Given the description of an element on the screen output the (x, y) to click on. 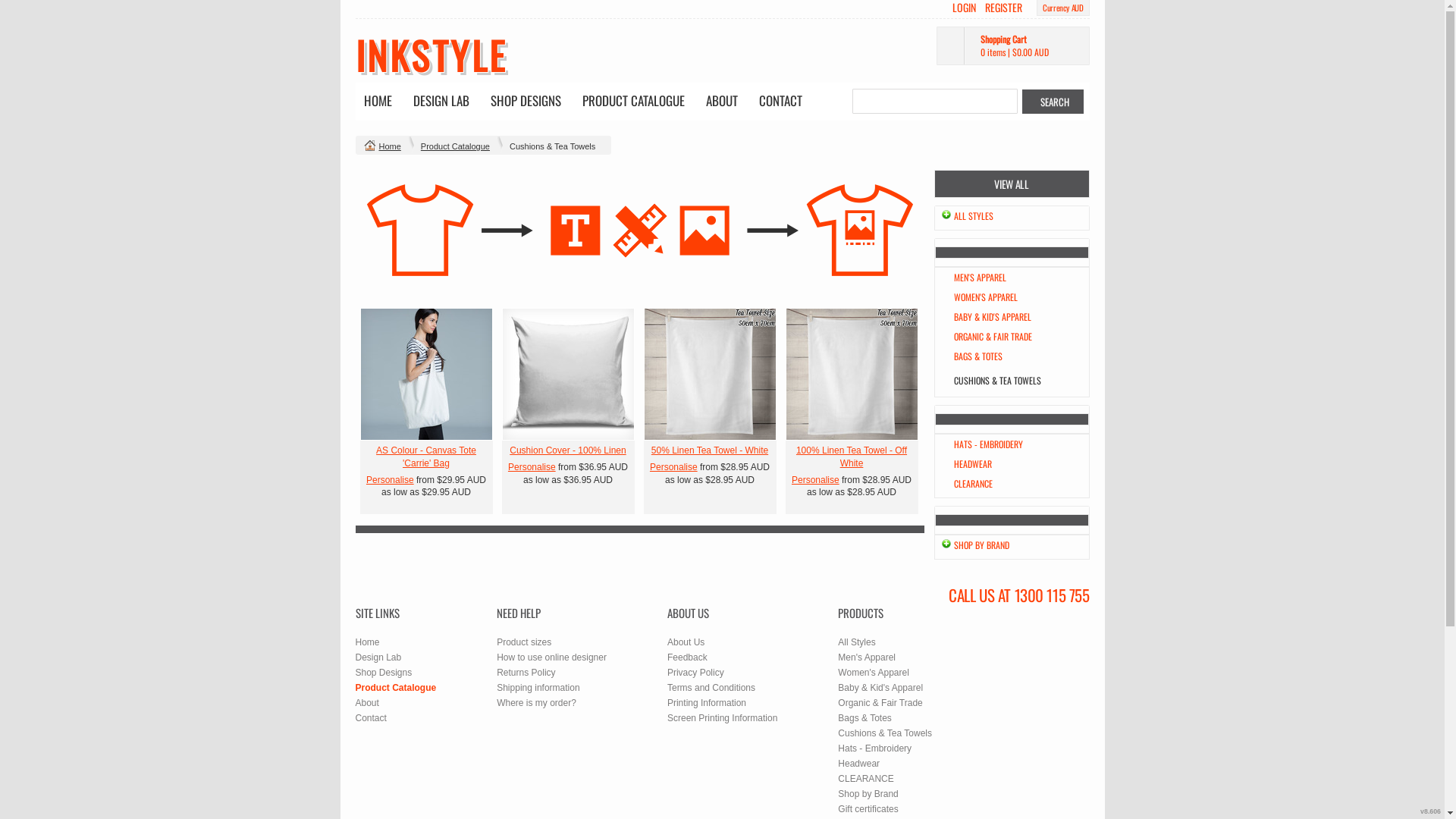
search Element type: text (1052, 101)
Personalise Element type: text (390, 479)
100% Linen Tea Towel - Off White Element type: text (851, 456)
Women's Apparel Element type: text (872, 672)
Cushions & Tea Towels Element type: text (884, 733)
CLEARANCE Element type: text (865, 778)
ABOUT Element type: text (721, 101)
Cushion Cover - 100% Linen Element type: text (567, 450)
PRODUCT CATALOGUE Element type: text (632, 101)
About Us Element type: text (685, 642)
INKSTYLE Element type: text (430, 54)
Home Element type: text (366, 642)
Personalise Element type: text (673, 466)
Men's Apparel Element type: text (866, 657)
Shop Designs Element type: text (382, 672)
WOMEN'S APPAREL Element type: text (985, 296)
LOGIN Element type: text (963, 7)
ALL STYLES Element type: text (973, 215)
Personalise Element type: text (531, 466)
Feedback Element type: text (687, 657)
  Element type: text (709, 373)
HEADWEAR Element type: text (972, 463)
Terms and Conditions Element type: text (711, 687)
Personalise Element type: text (815, 479)
Screen Printing Information Element type: text (722, 717)
Where is my order? Element type: text (536, 702)
AS Colour - Canvas Tote 'Carrie' Bag Element type: text (426, 456)
Shop by Brand Element type: text (867, 793)
Currency AUD Element type: text (1062, 7)
  Element type: text (568, 373)
Headwear Element type: text (858, 763)
Product sizes Element type: text (523, 642)
Home Element type: text (390, 145)
DESIGN LAB Element type: text (441, 101)
Shopping Cart
0 items | $0.00 AUD Element type: text (1011, 45)
Product Catalogue Element type: text (454, 145)
REGISTER Element type: text (1003, 7)
CONTACT Element type: text (780, 101)
Organic & Fair Trade Element type: text (879, 702)
Hats - Embroidery Element type: text (874, 748)
Baby & Kid's Apparel Element type: text (879, 687)
Printing Information Element type: text (706, 702)
ORGANIC & FAIR TRADE Element type: text (992, 335)
HATS - EMBROIDERY Element type: text (987, 443)
About Element type: text (366, 702)
Returns Policy Element type: text (525, 672)
BAGS & TOTES Element type: text (977, 355)
Privacy Policy Element type: text (695, 672)
50% Linen Tea Towel - White Element type: text (709, 450)
Gift certificates Element type: text (867, 808)
SHOP DESIGNS Element type: text (525, 101)
How to use online designer Element type: text (551, 657)
MEN'S APPAREL Element type: text (979, 276)
SHOP BY BRAND Element type: text (981, 544)
All Styles Element type: text (856, 642)
  Element type: text (851, 373)
Shipping information Element type: text (537, 687)
Bags & Totes Element type: text (864, 717)
Contact Element type: text (369, 717)
BABY & KID'S APPAREL Element type: text (992, 316)
HOME Element type: text (377, 101)
Design Lab Element type: text (377, 657)
  Element type: text (425, 373)
CLEARANCE Element type: text (972, 482)
